Given the description of an element on the screen output the (x, y) to click on. 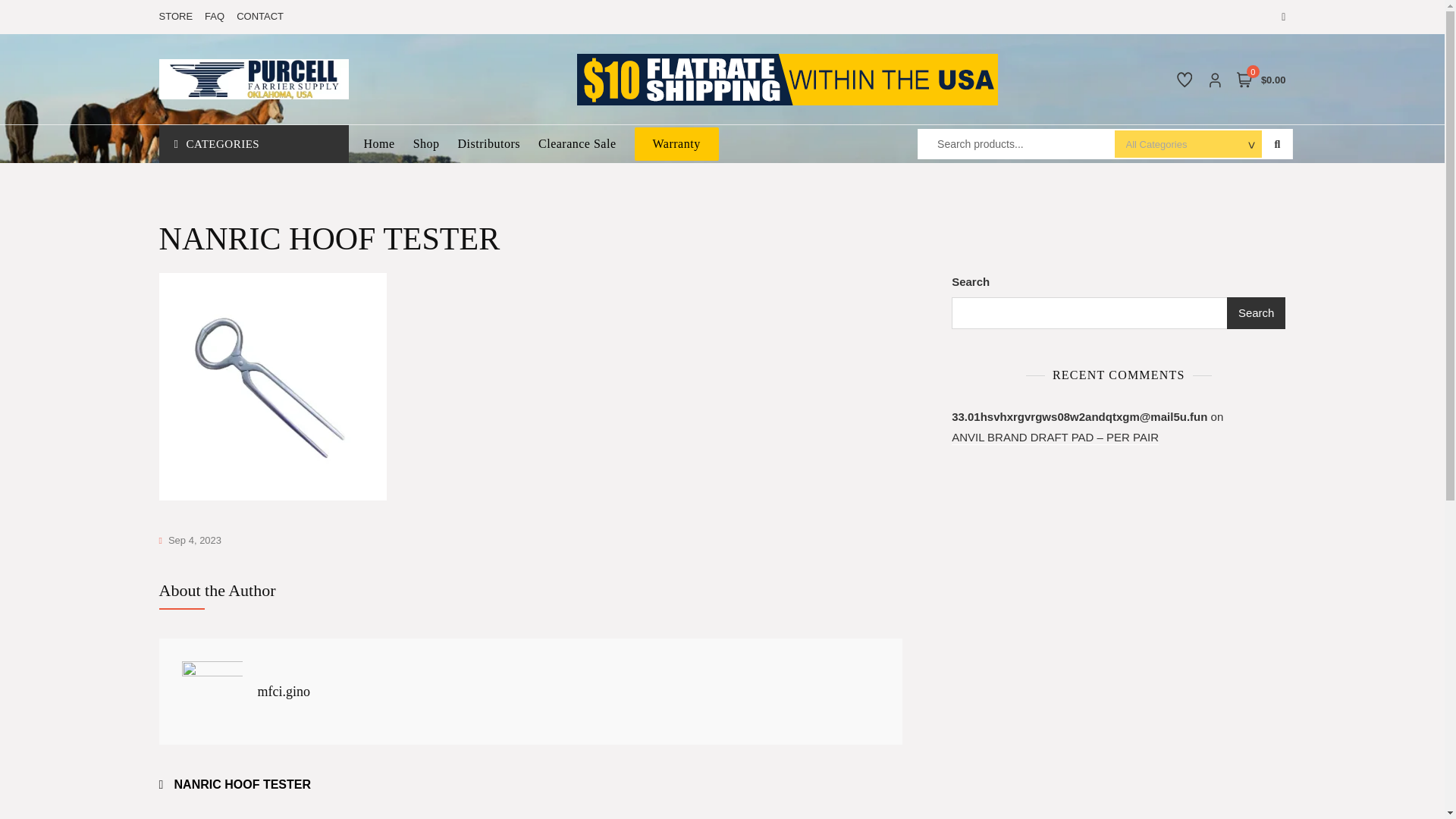
STORE (178, 17)
CONTACT (256, 17)
FAQ (214, 17)
CATEGORIES (253, 143)
